Given the description of an element on the screen output the (x, y) to click on. 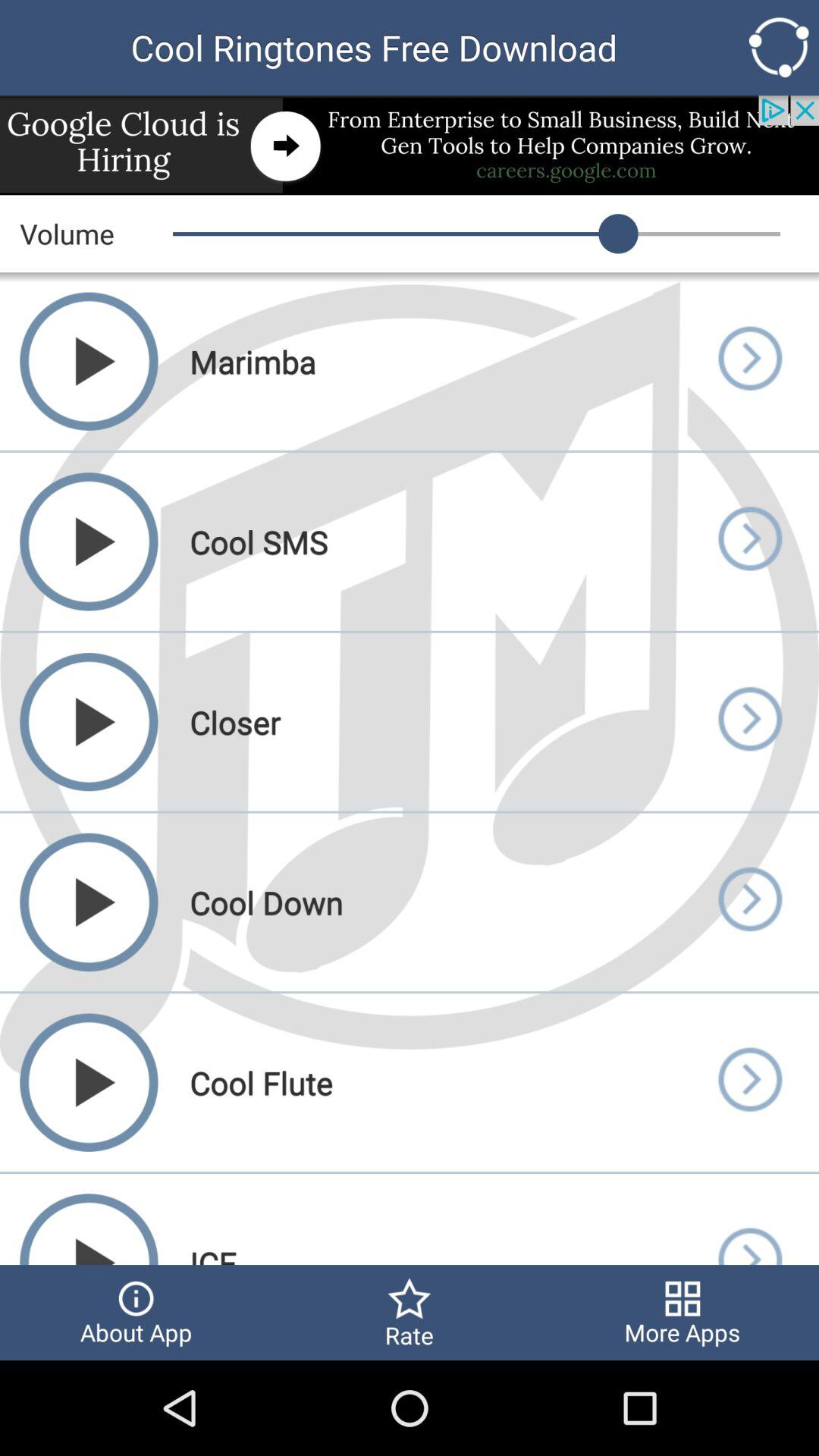
open menu (749, 902)
